Given the description of an element on the screen output the (x, y) to click on. 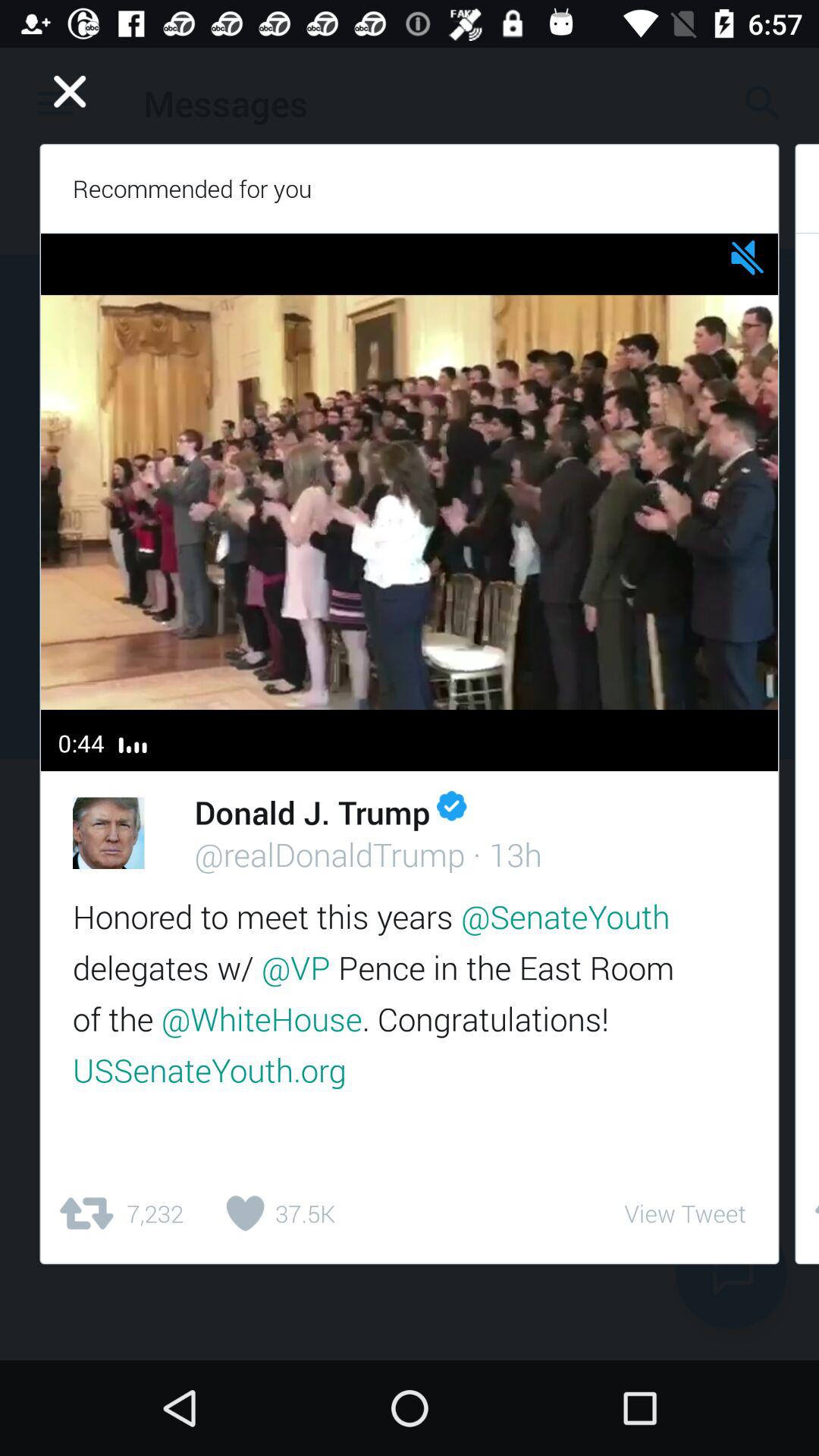
open item next to view tweet (807, 1213)
